Given the description of an element on the screen output the (x, y) to click on. 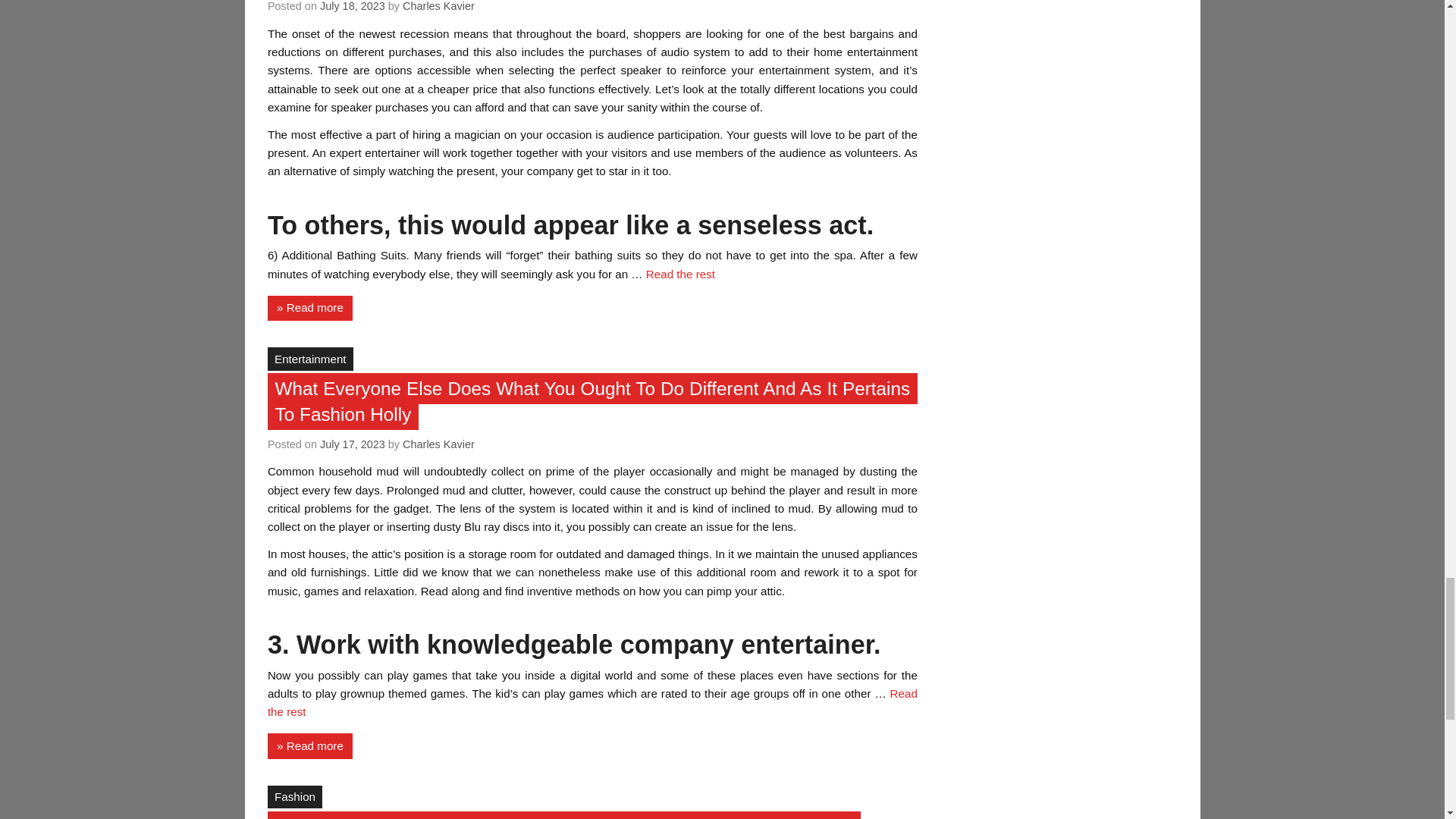
2:11 pm (352, 6)
View all posts by Charles Kavier (438, 6)
12:05 pm (352, 444)
